Given the description of an element on the screen output the (x, y) to click on. 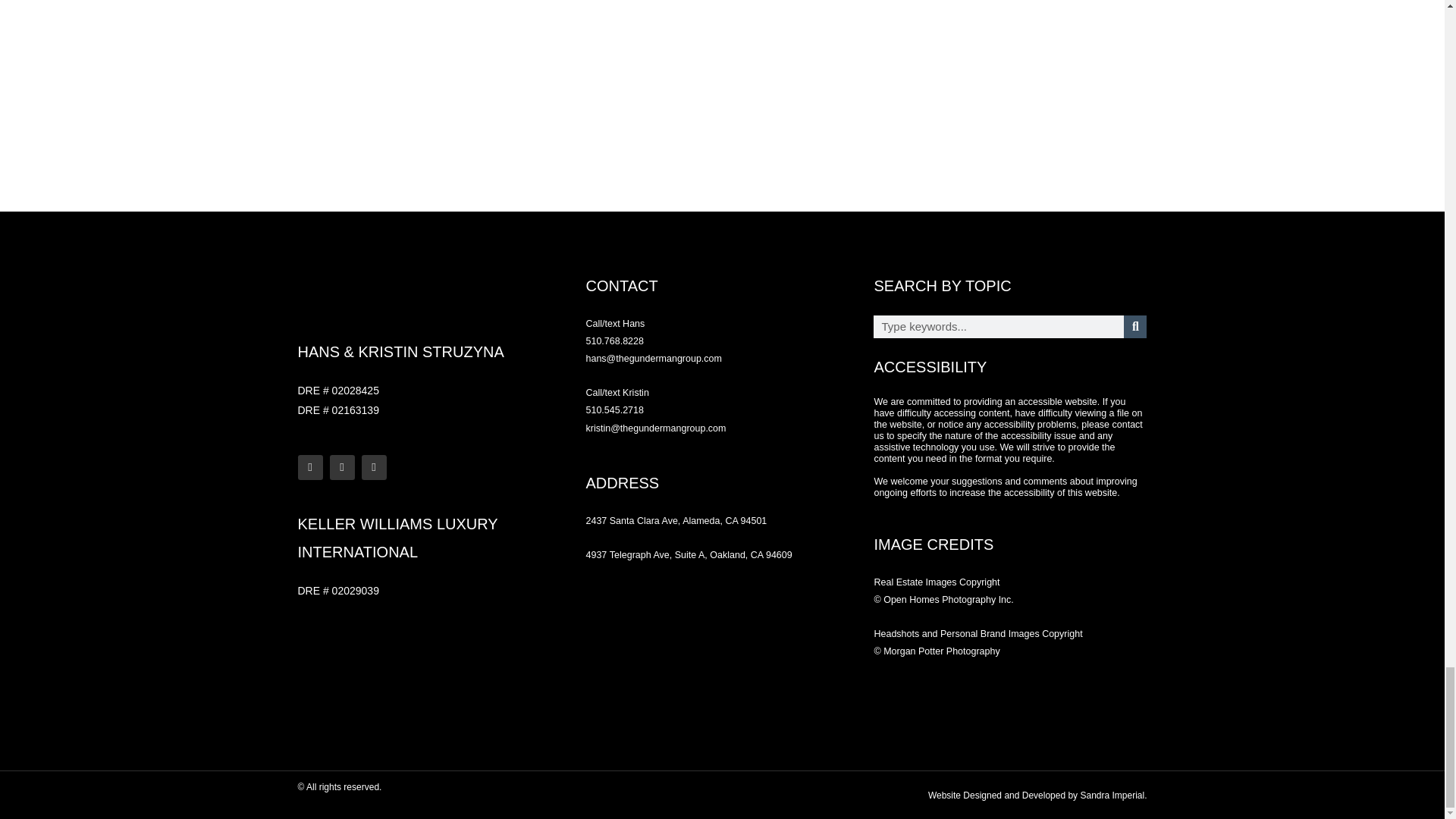
hans and kristin  (710, 653)
